Given the description of an element on the screen output the (x, y) to click on. 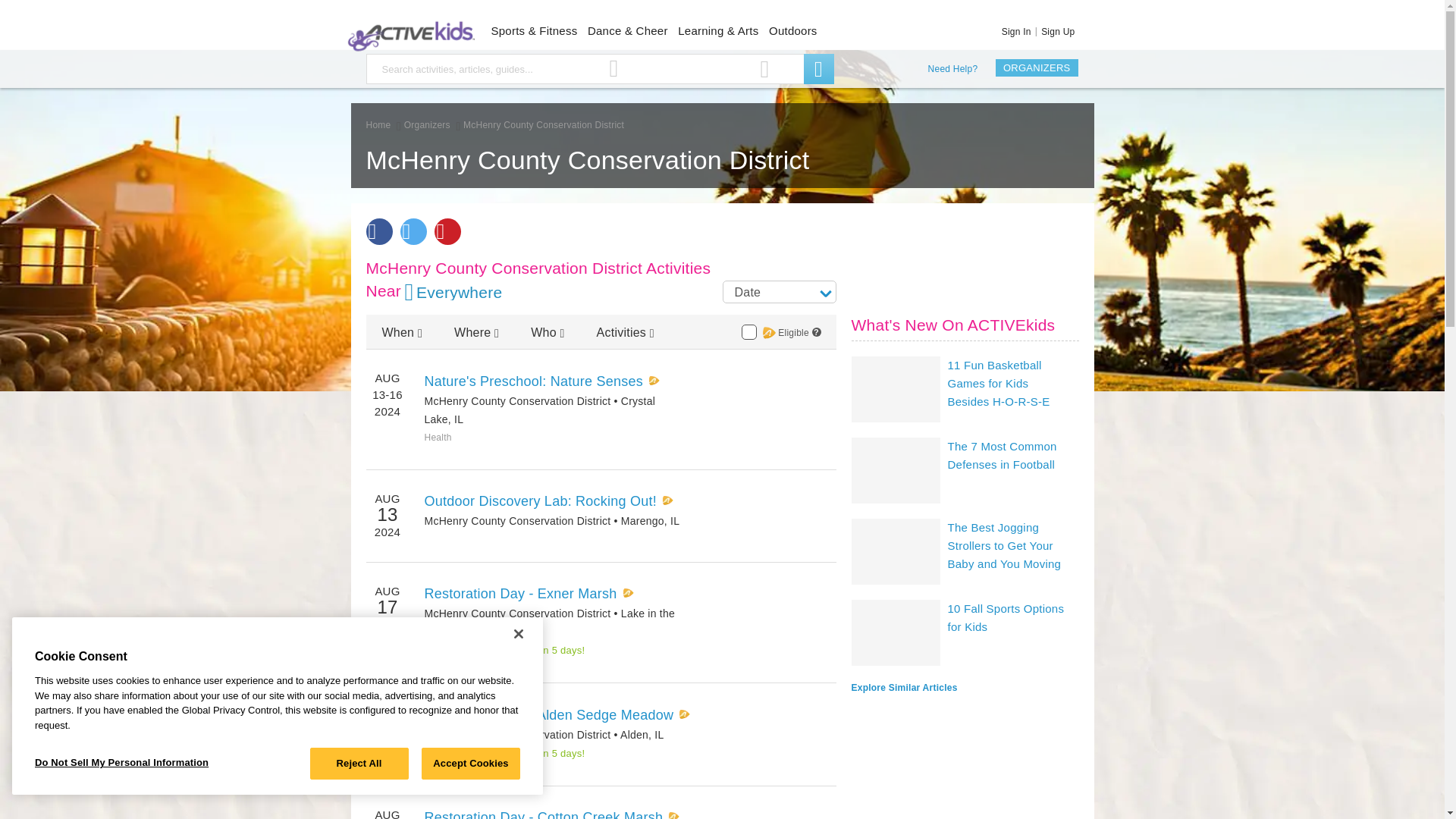
Share on Twitter (413, 231)
Share on Facebook (378, 231)
Share on Pinterest (446, 231)
